Given the description of an element on the screen output the (x, y) to click on. 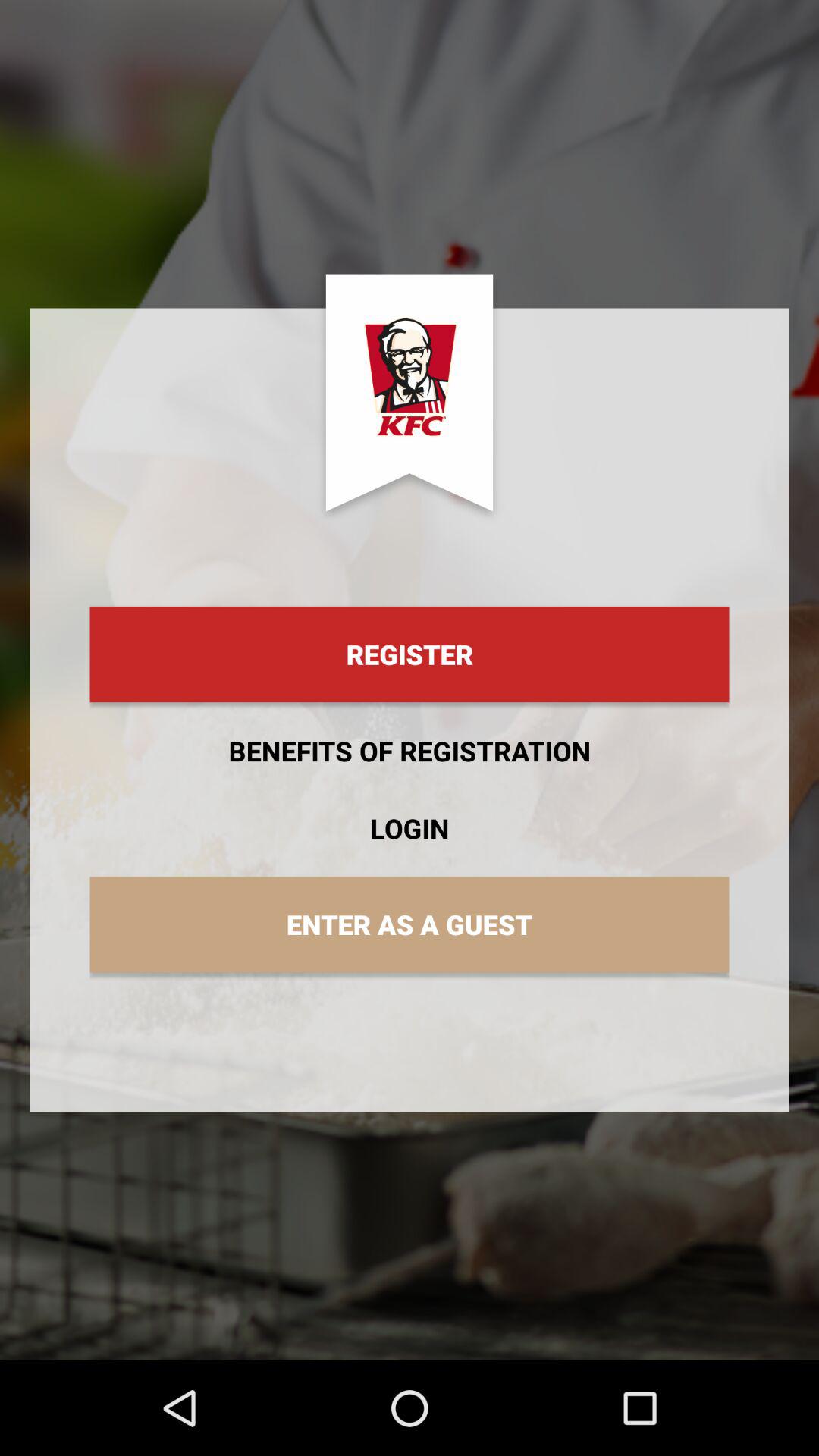
click icon above the benefits of registration app (409, 654)
